Given the description of an element on the screen output the (x, y) to click on. 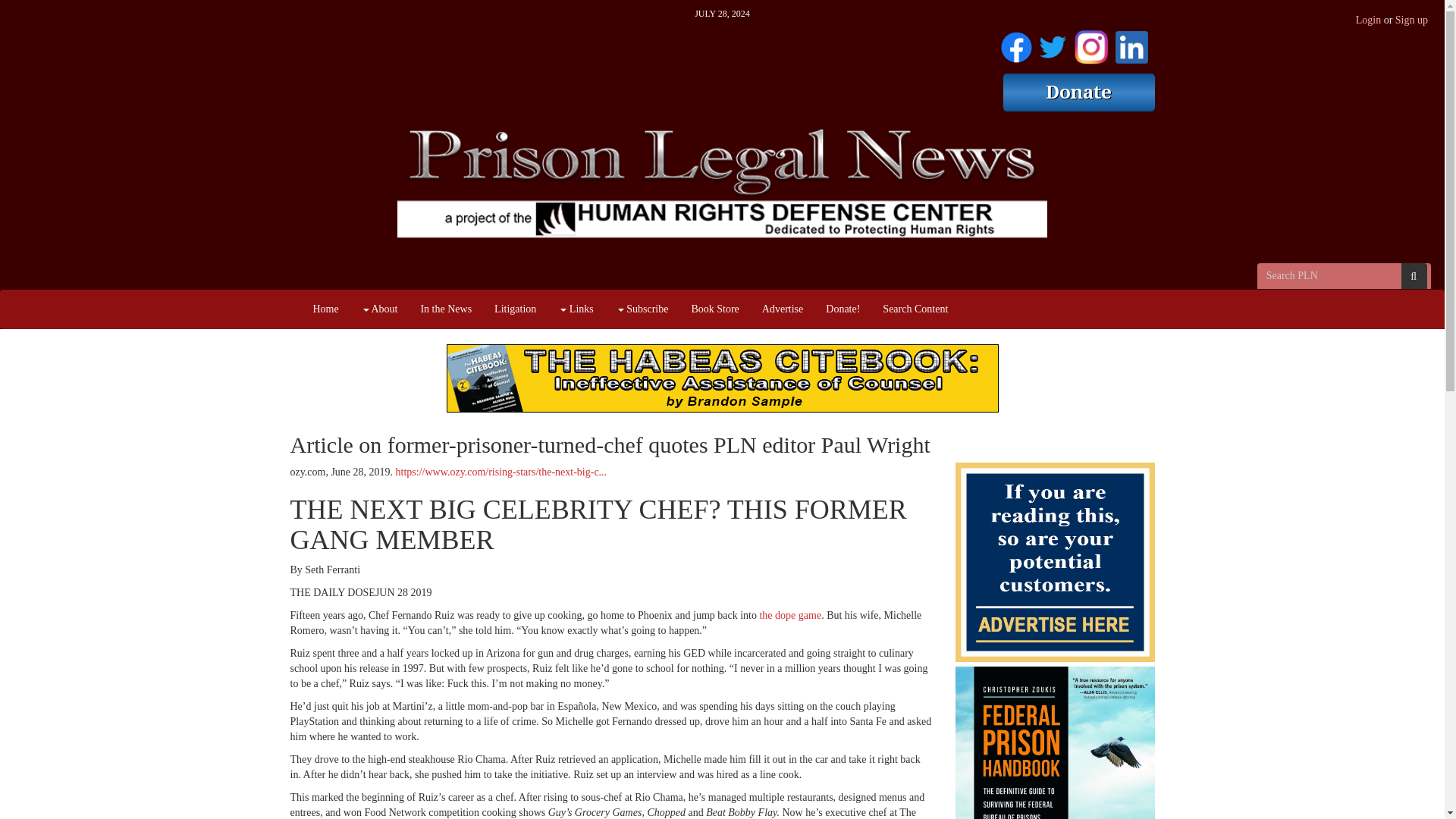
the dope game (789, 614)
Home (325, 309)
Sign up (1411, 19)
Prison Legal News FaceBook Page (1016, 44)
Book Store (714, 309)
Advertise (782, 309)
Subscribe (642, 309)
Login (1367, 19)
Search (1413, 275)
HRDC Instagram Page (1091, 44)
Search Content (914, 309)
Donate! (841, 309)
Litigation (515, 309)
Paul Wright's LinkedIn Page (1131, 44)
In the News (446, 309)
